Given the description of an element on the screen output the (x, y) to click on. 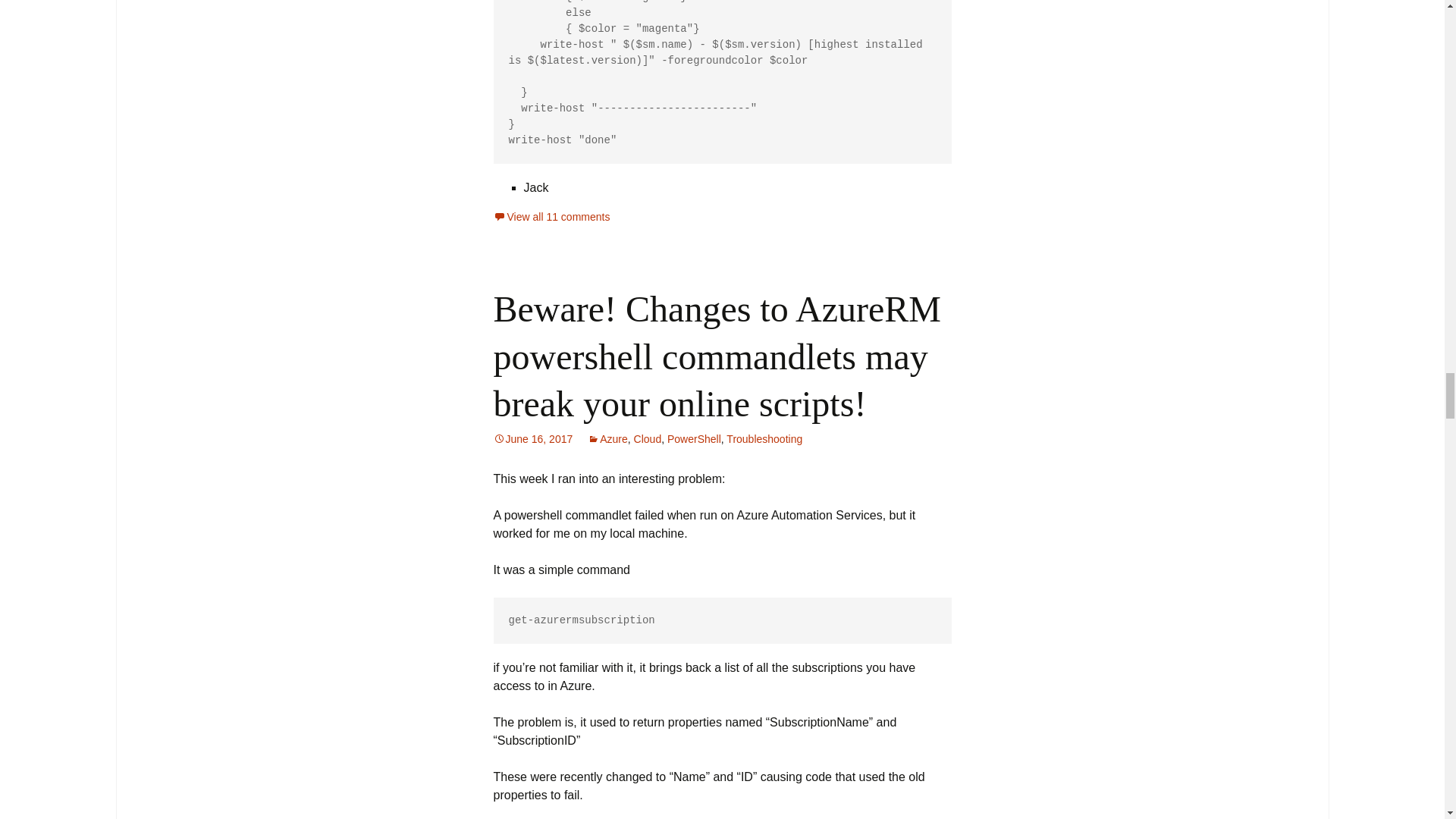
psmodulestatusreport.ps1 (721, 81)
